Given the description of an element on the screen output the (x, y) to click on. 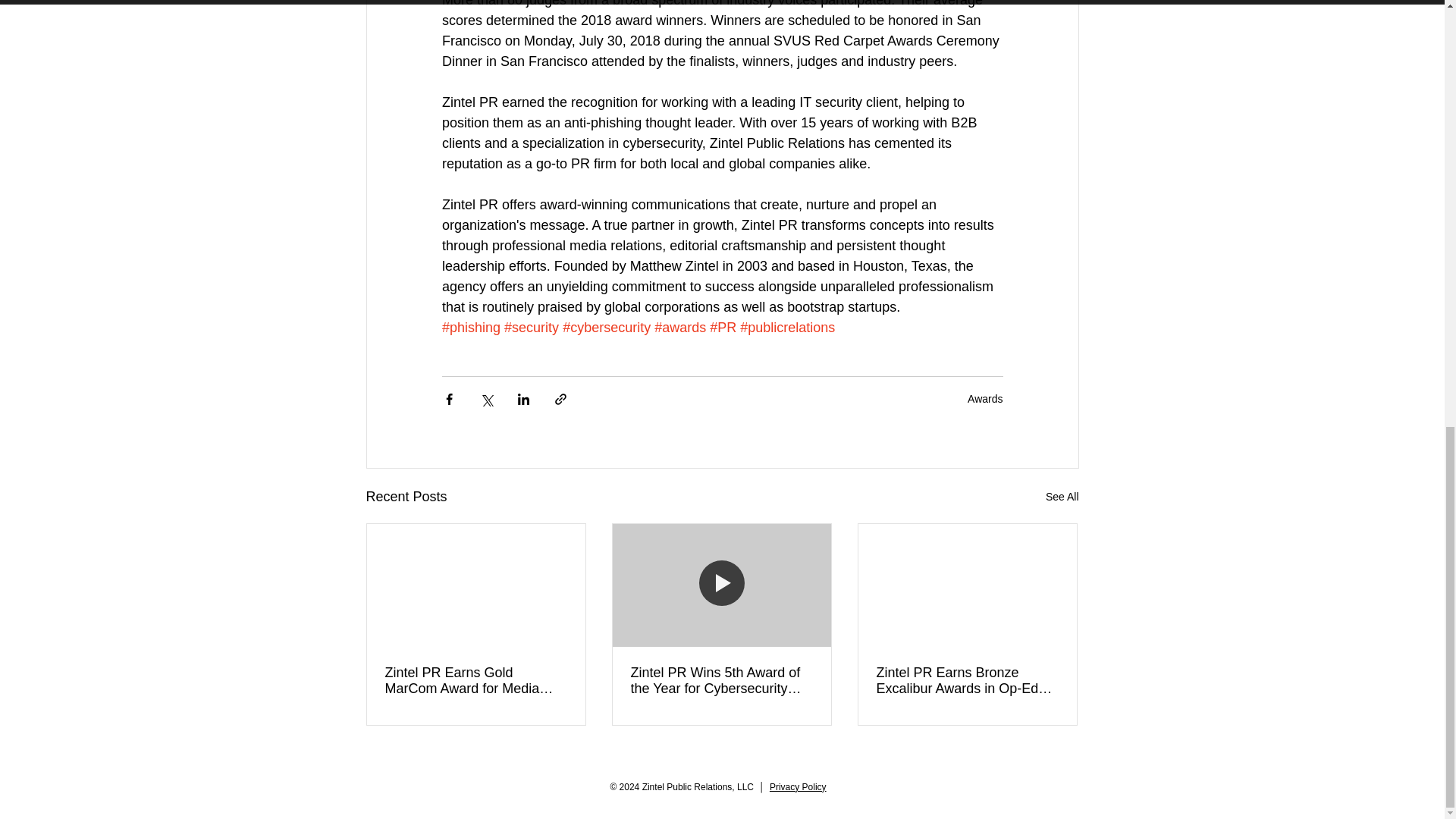
Privacy Policy (798, 787)
Awards (985, 398)
Zintel PR Earns Gold MarCom Award for Media Relations (476, 680)
See All (1061, 496)
